Given the description of an element on the screen output the (x, y) to click on. 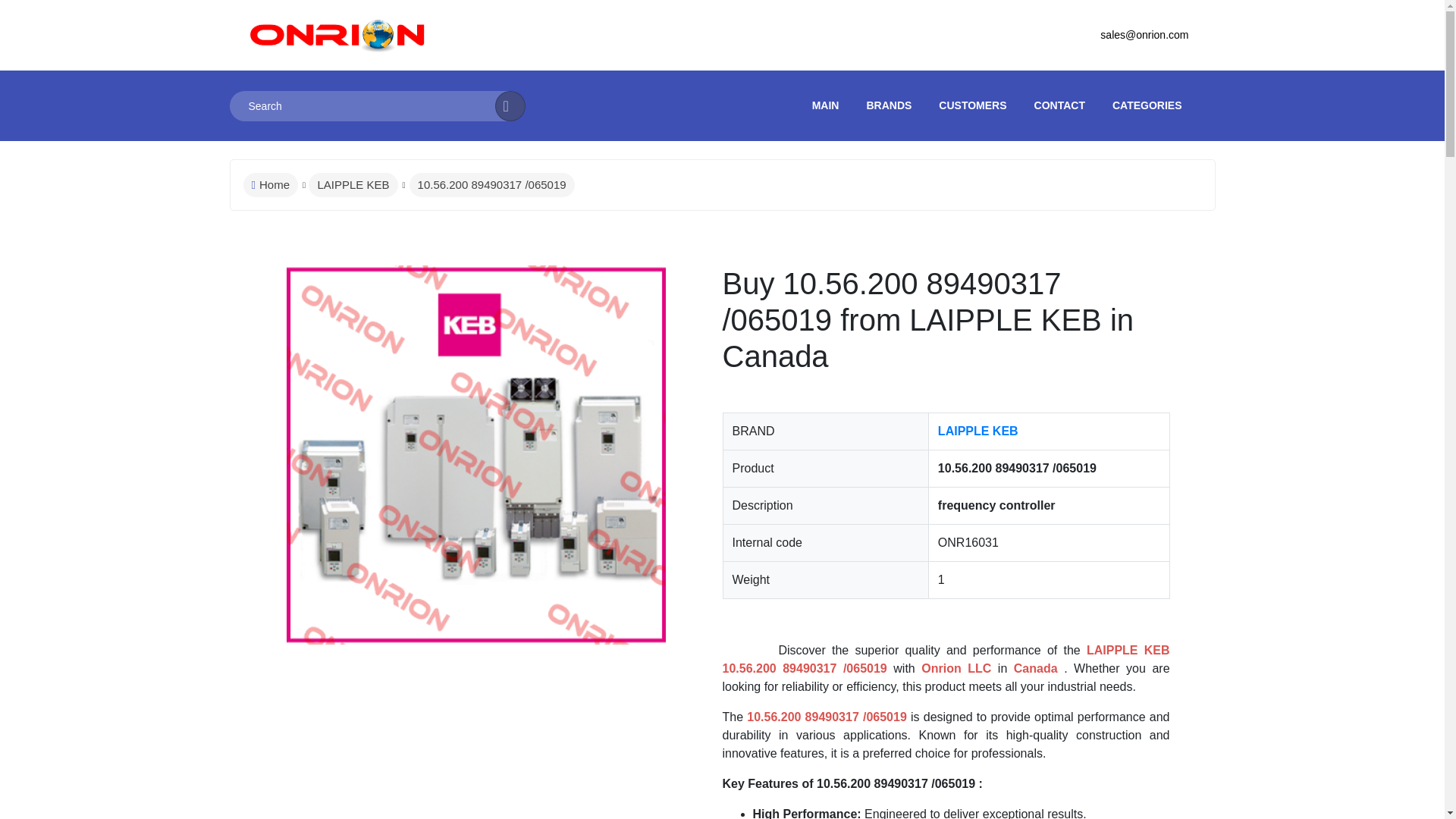
LAIPPLE KEB (352, 184)
CONTACT (1058, 105)
MAIN (825, 105)
Home (270, 184)
LAIPPLE KEB (977, 431)
BRANDS (888, 105)
CUSTOMERS (972, 105)
CATEGORIES (1147, 105)
